Given the description of an element on the screen output the (x, y) to click on. 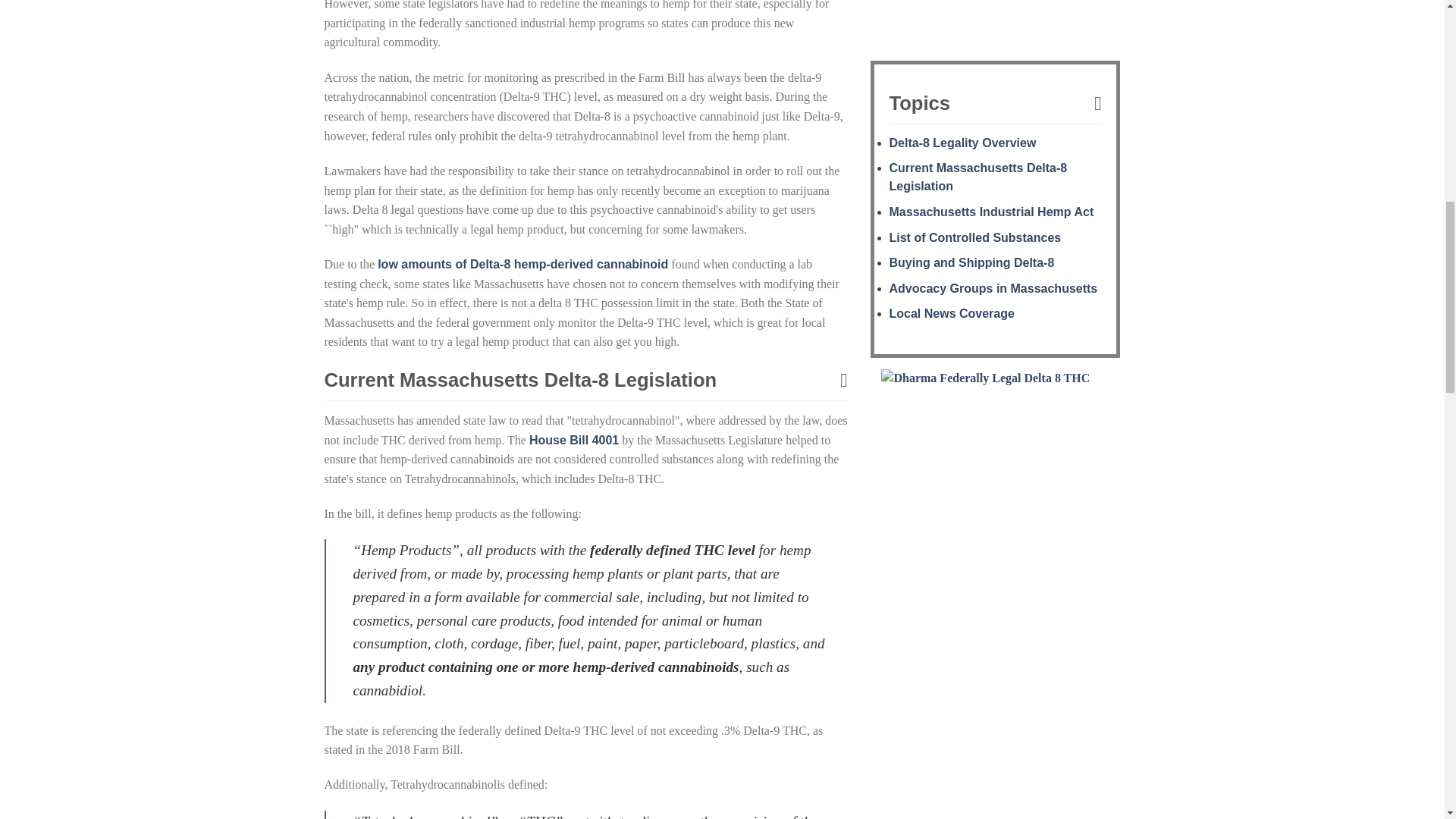
House Bill 4001 (573, 440)
low amounts of Delta-8 hemp-derived cannabinoid (522, 264)
